Given the description of an element on the screen output the (x, y) to click on. 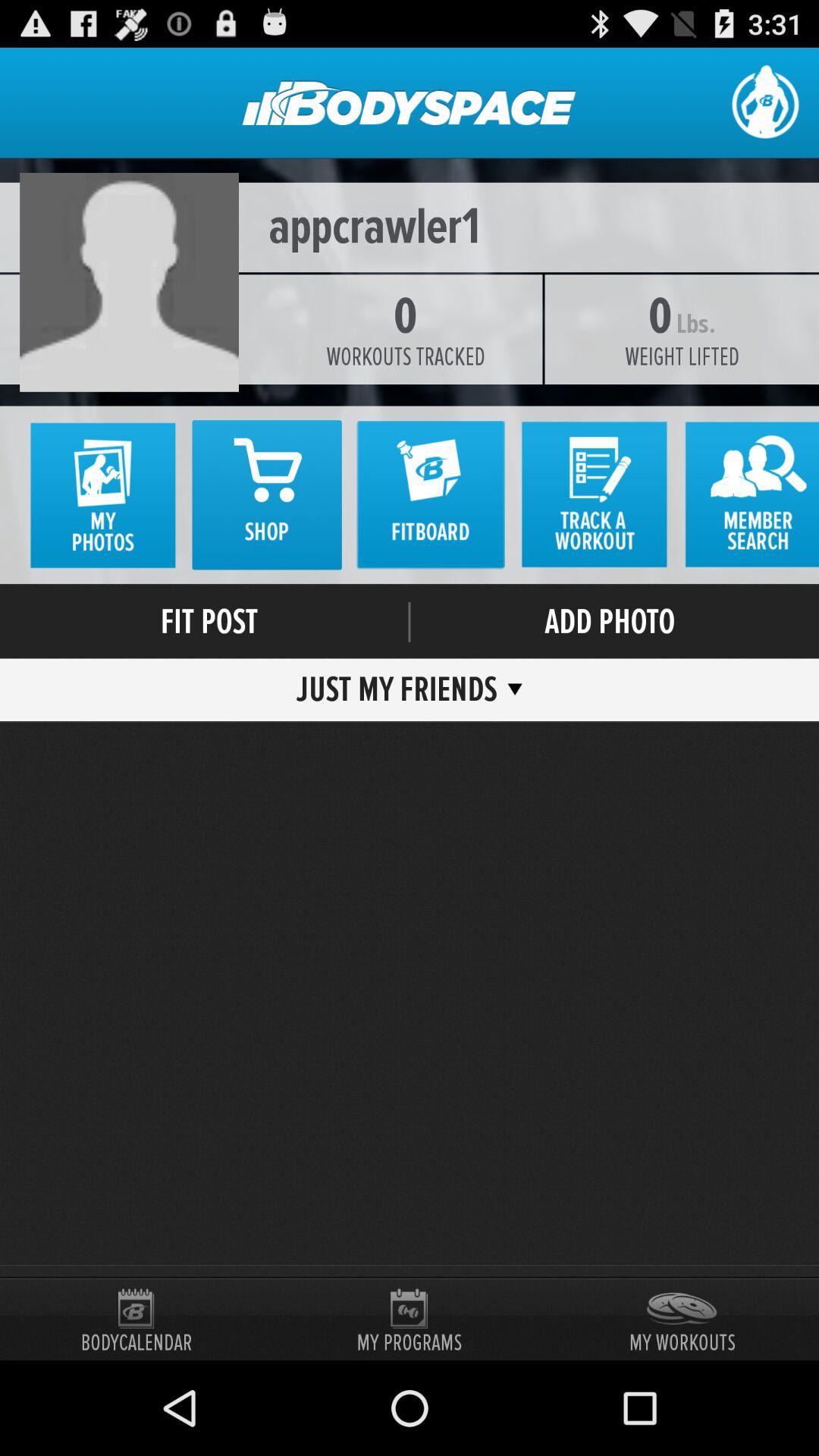
swipe until appcrawler1 item (409, 227)
